Given the description of an element on the screen output the (x, y) to click on. 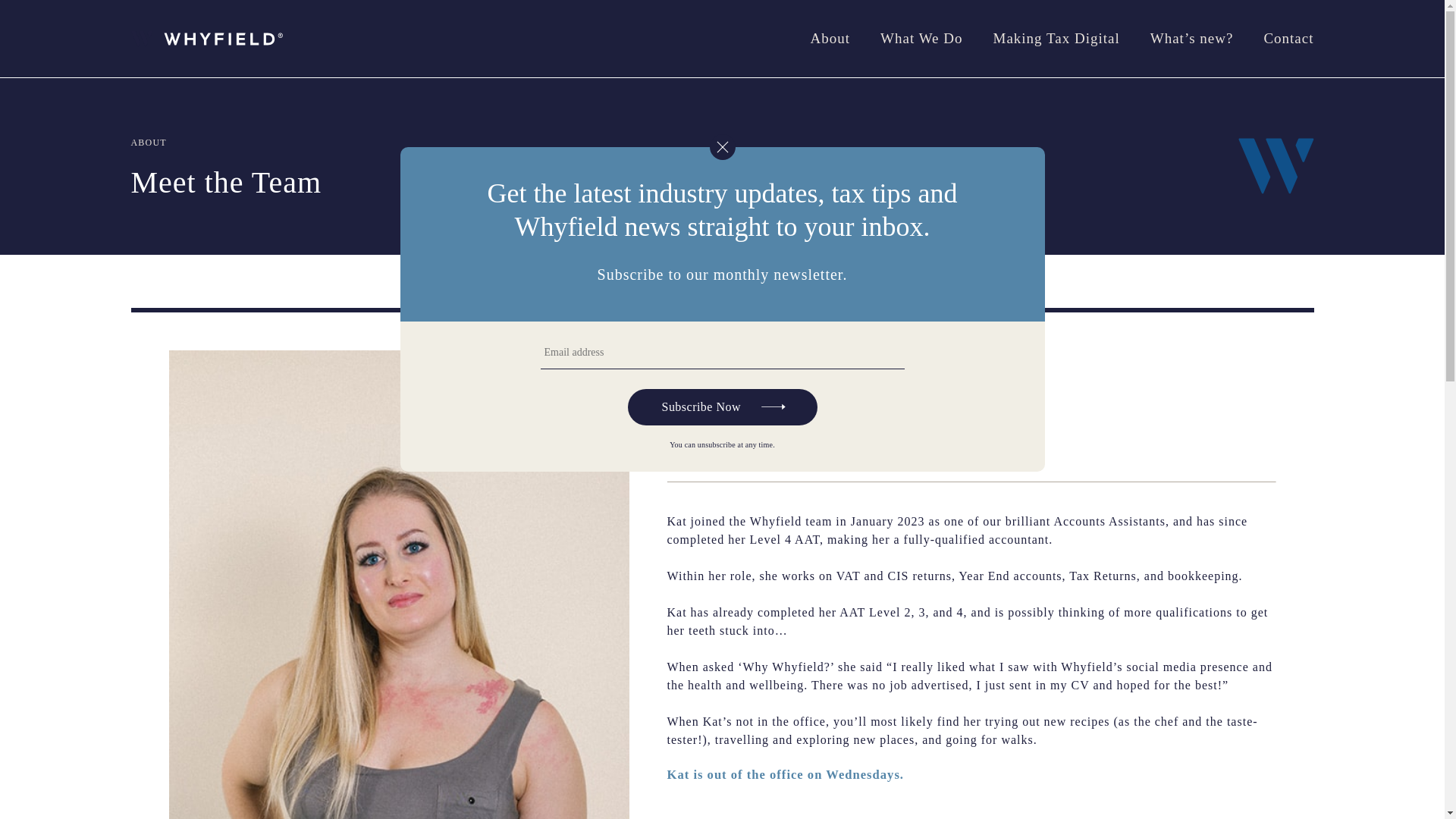
Making Tax Digital (1055, 37)
About (830, 37)
What We Do (921, 37)
Subscribe Now (721, 407)
Contact (1288, 37)
